Given the description of an element on the screen output the (x, y) to click on. 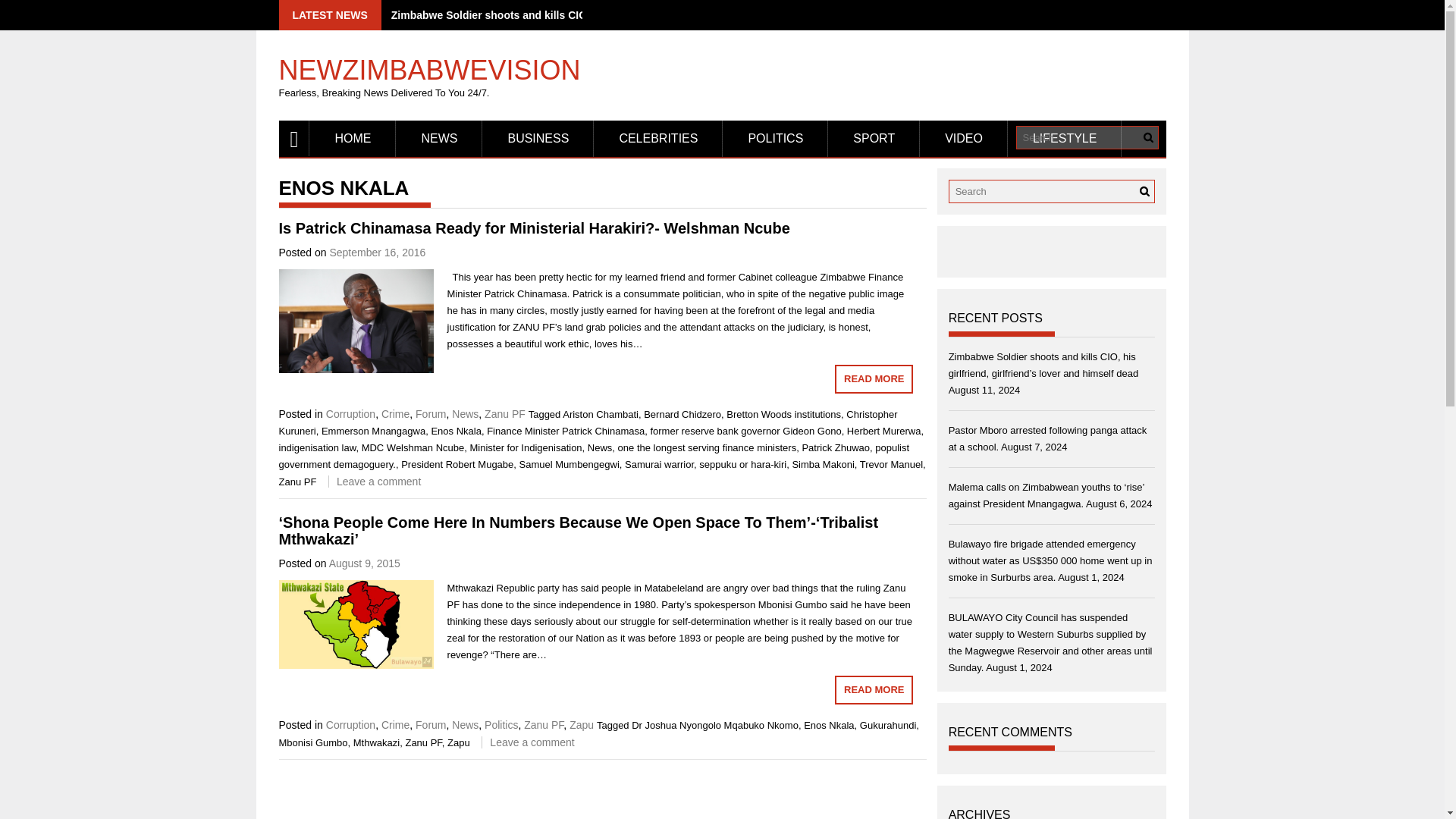
SPORT (874, 138)
POLITICS (775, 138)
NEWZIMBABWEVISION (429, 62)
VIDEO (963, 138)
HOME (352, 138)
LIFESTYLE (1064, 138)
